Given the description of an element on the screen output the (x, y) to click on. 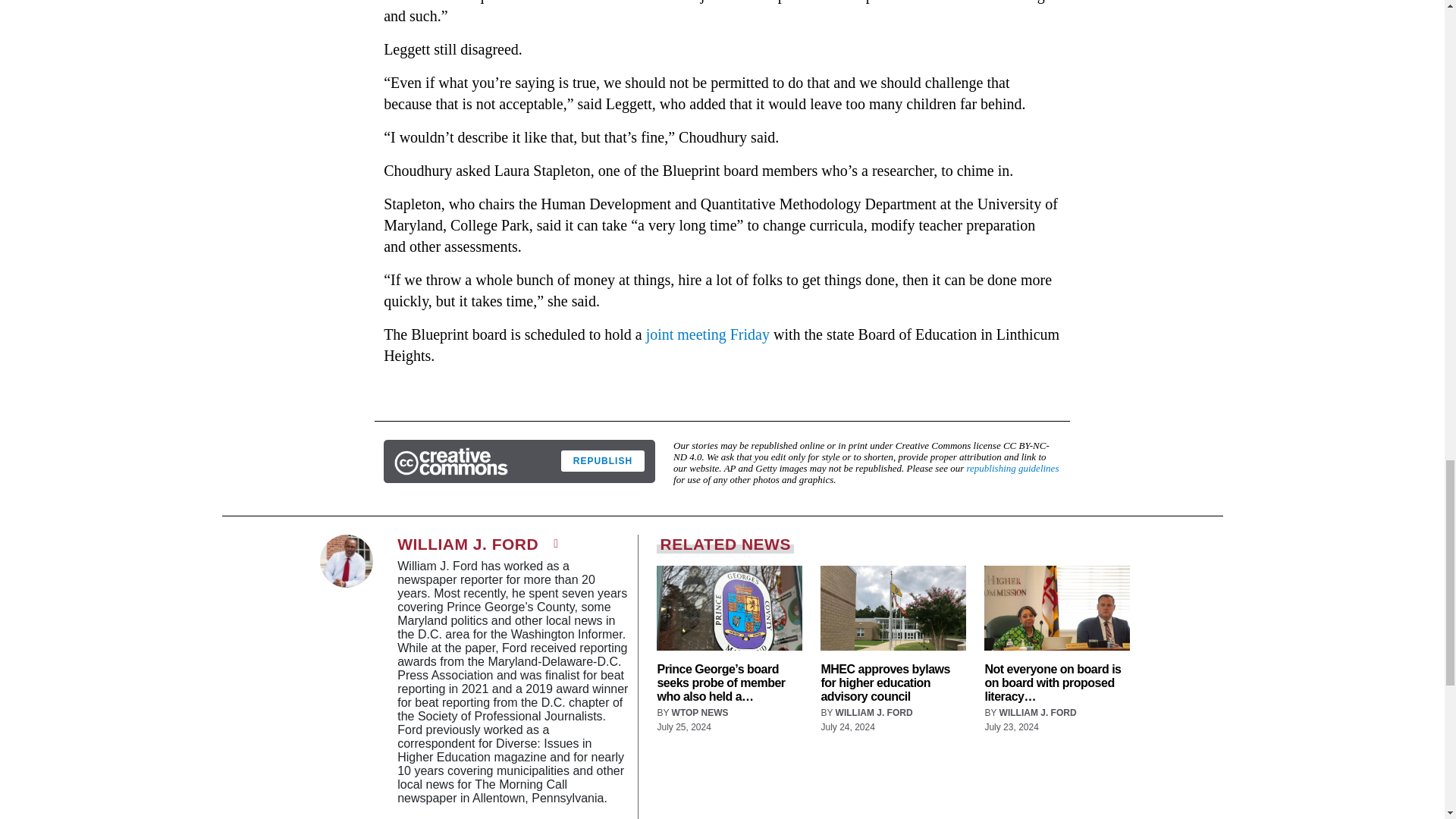
Posts by William J. Ford (873, 712)
Posts by WTOP News (700, 712)
Posts by William J. Ford (1037, 712)
